Given the description of an element on the screen output the (x, y) to click on. 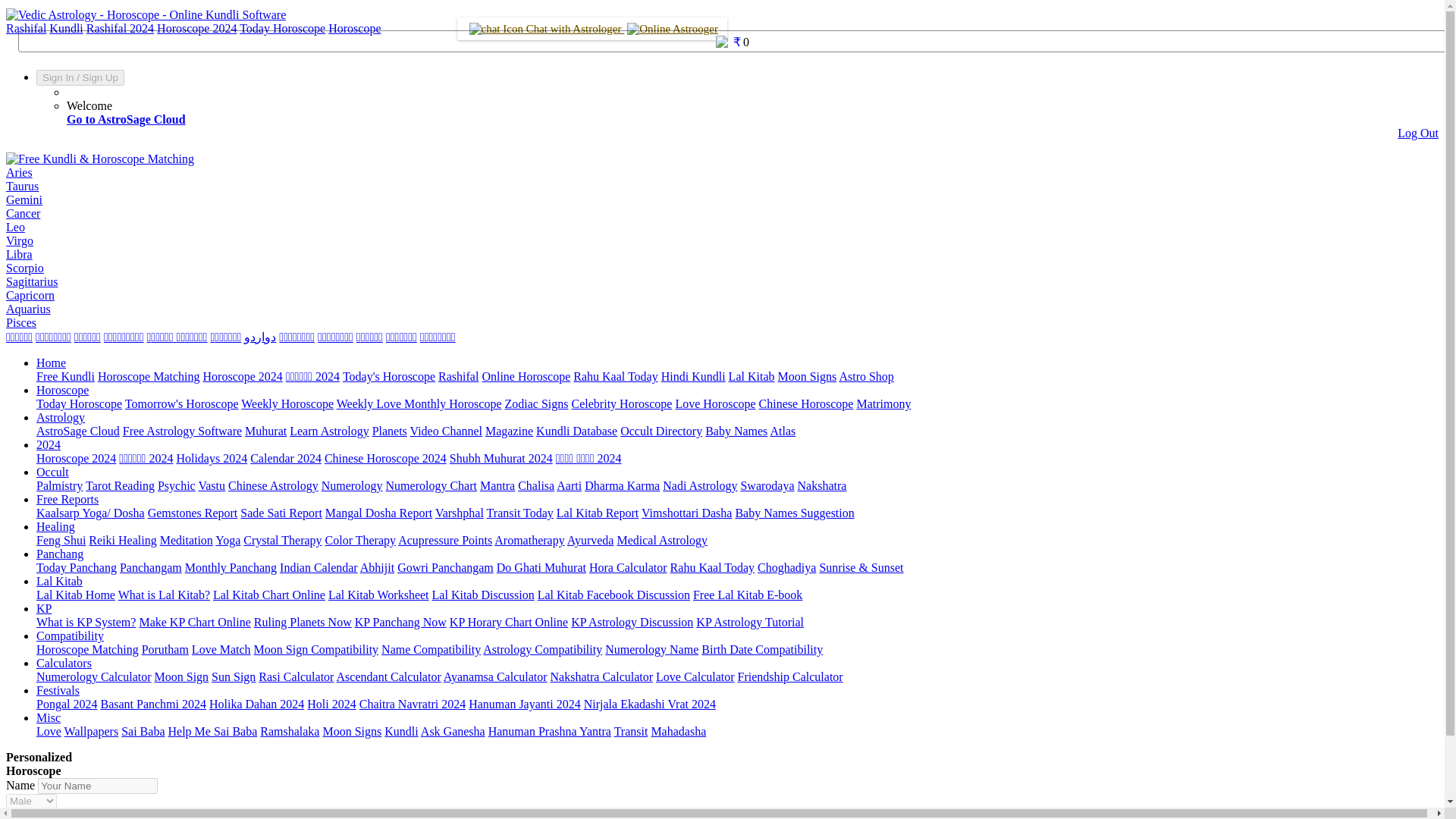
Pisces (20, 322)
Horoscope 2024 (196, 28)
Cancer (22, 213)
Punjabi (437, 336)
Gujarati (123, 336)
Today Horoscope (282, 28)
Nepali (335, 336)
Kundli (65, 28)
Gemini (23, 199)
Rashifal (25, 28)
Get your daily rashifal in hindi (458, 376)
Taurus (22, 185)
Libra (18, 254)
Tamil (18, 336)
Scorpio (24, 267)
